Given the description of an element on the screen output the (x, y) to click on. 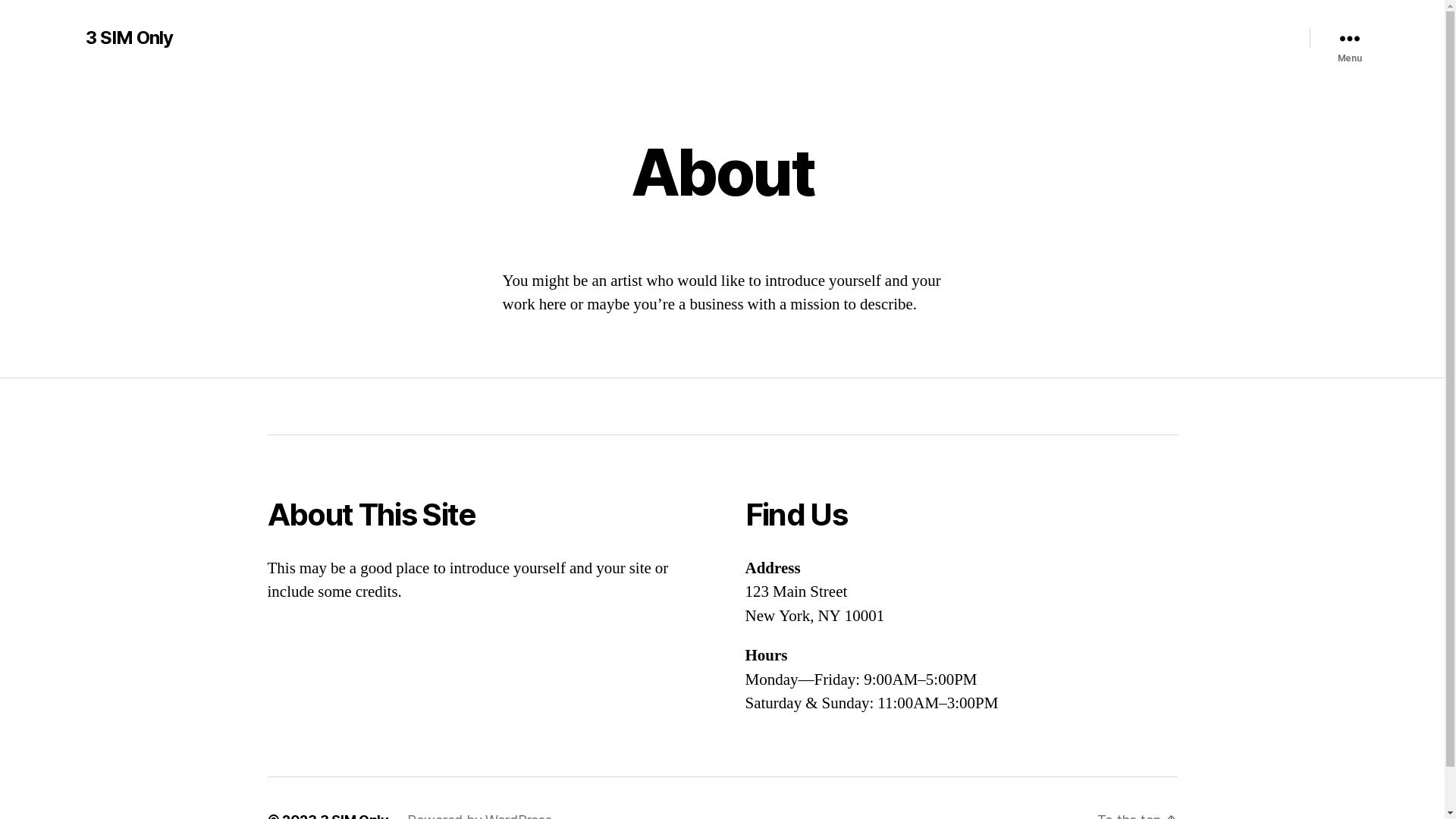
3 SIM Only Element type: text (128, 37)
Menu Element type: text (1348, 37)
